Given the description of an element on the screen output the (x, y) to click on. 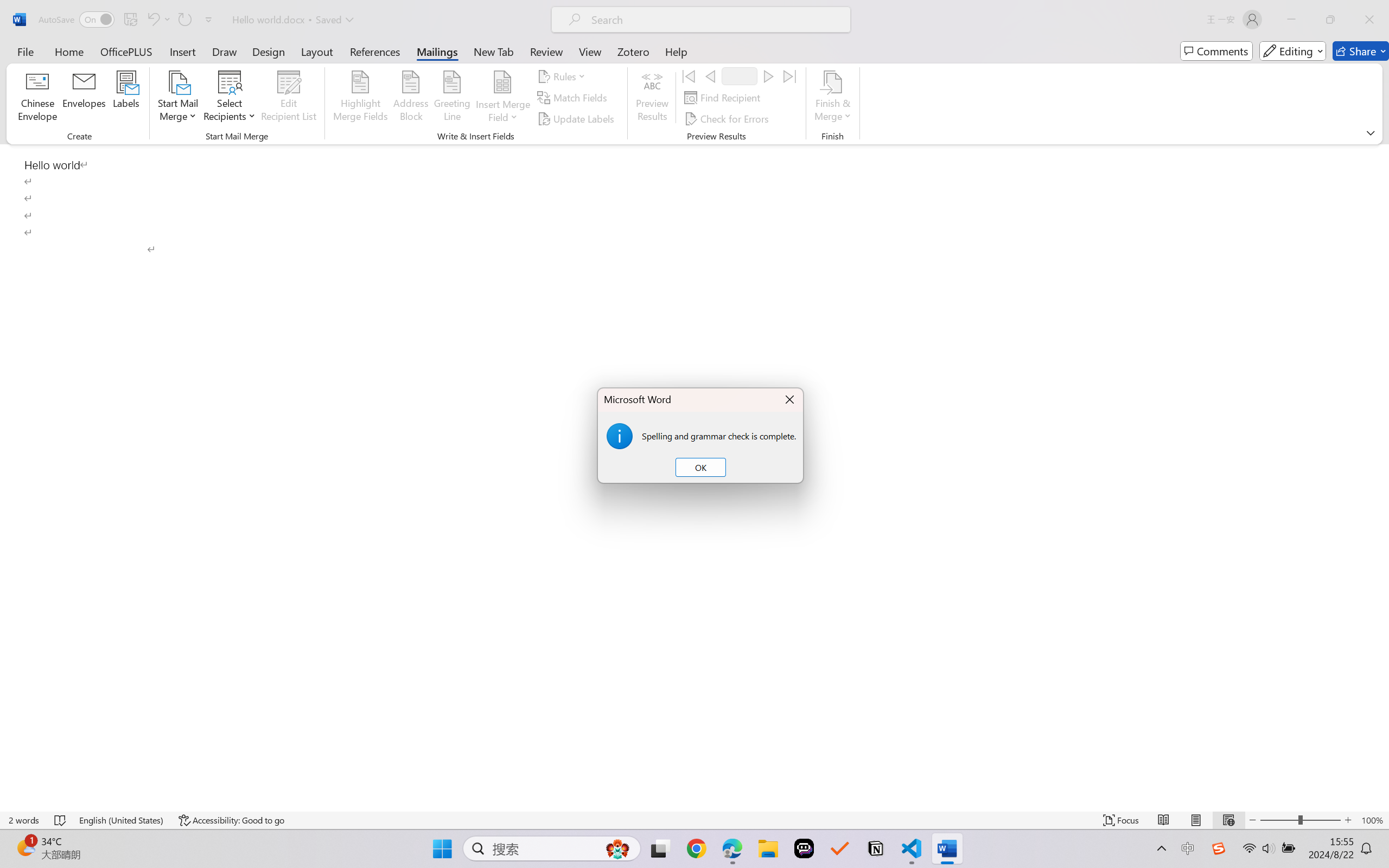
Word Count 2 words (23, 819)
Class: Static (618, 436)
Layout (316, 51)
Mailings (437, 51)
Envelopes... (84, 97)
Preview Results (652, 97)
View (589, 51)
AutomationID: DynamicSearchBoxGleamImage (617, 848)
Greeting Line... (451, 97)
Comments (1216, 50)
Undo Click and Type Formatting (158, 19)
